Given the description of an element on the screen output the (x, y) to click on. 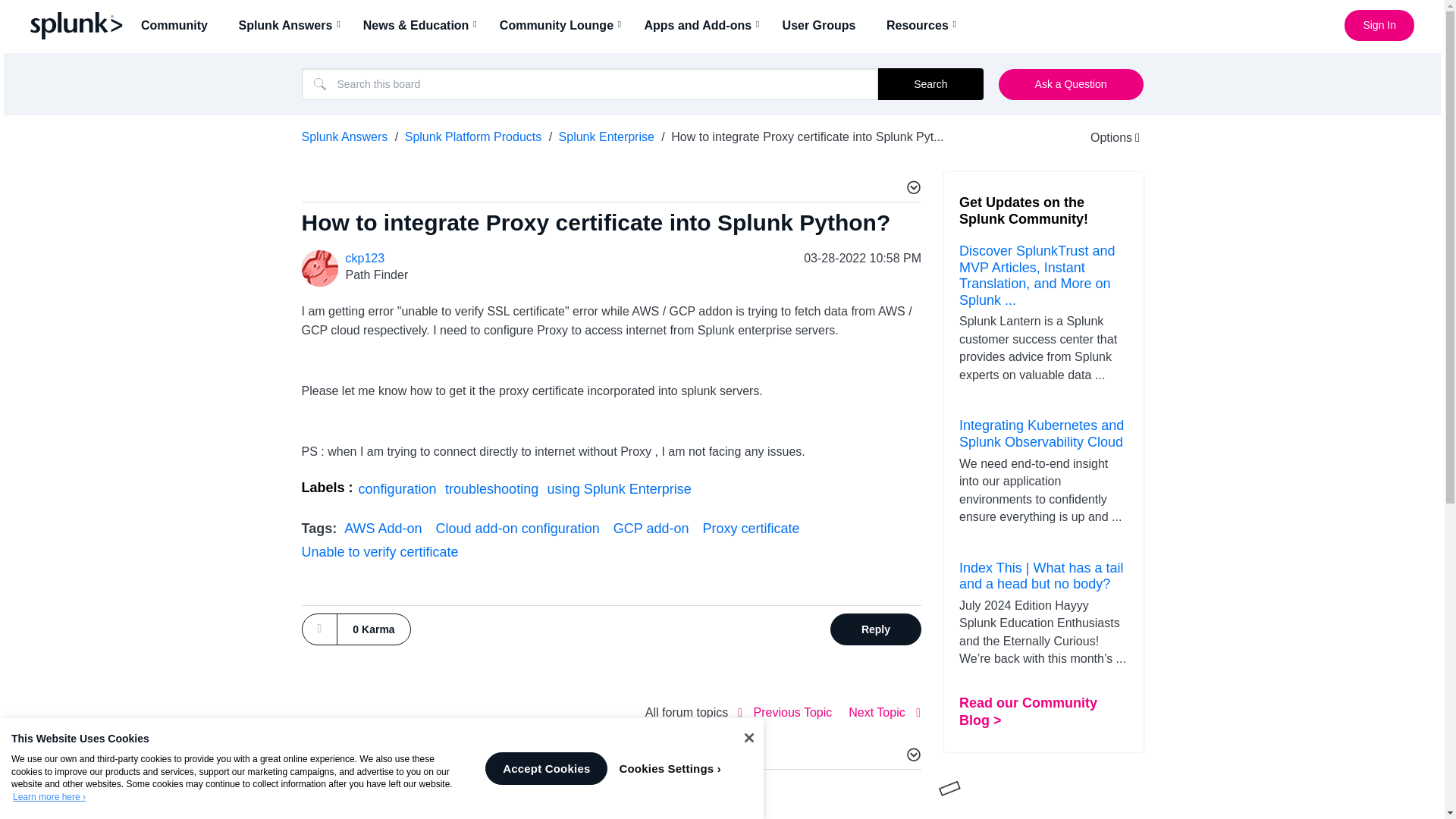
Search (929, 83)
Show option menu (1105, 137)
Search (929, 83)
Community (178, 25)
Splunk Answers (289, 25)
Search (590, 83)
